Given the description of an element on the screen output the (x, y) to click on. 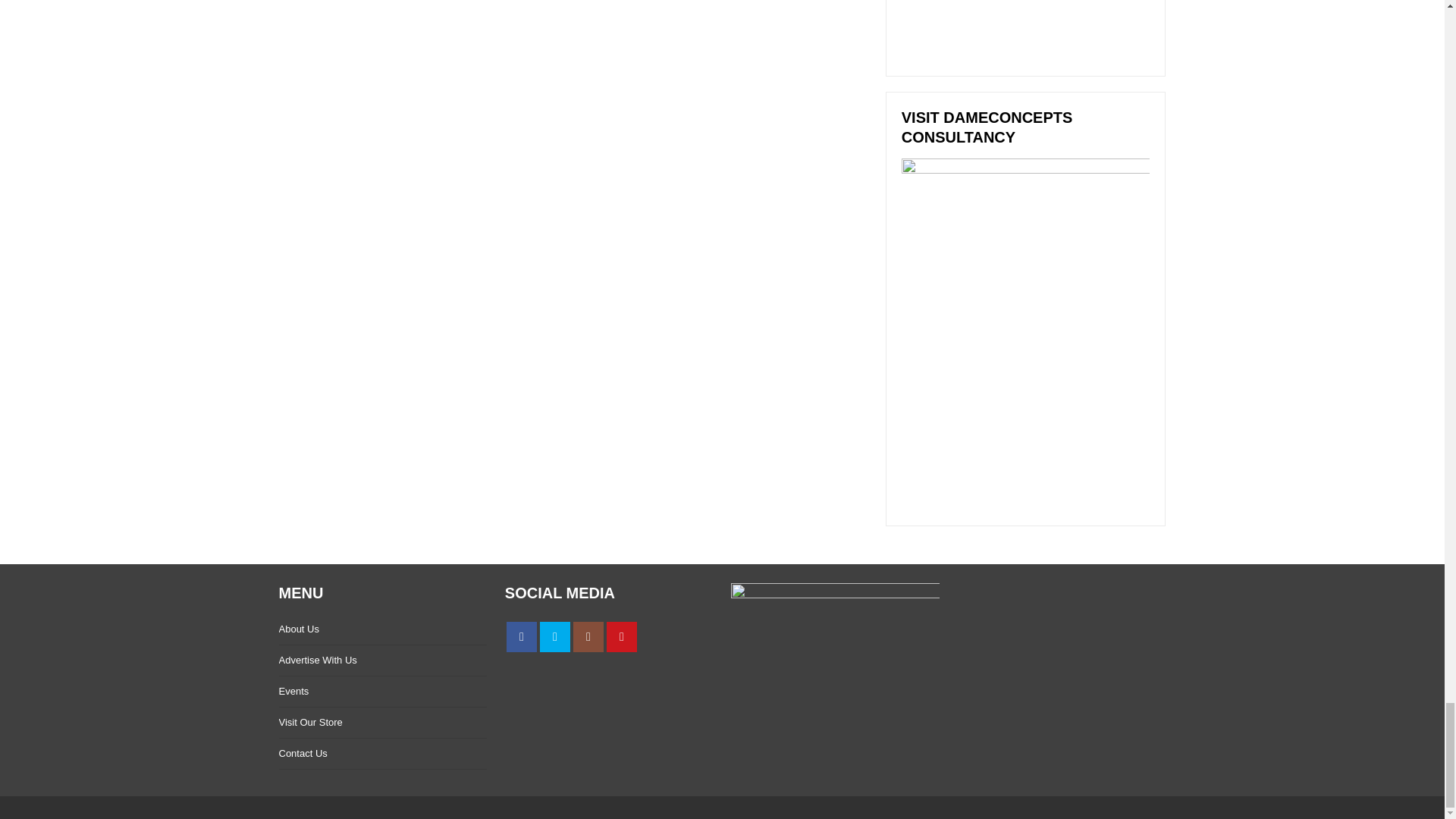
Contact Us (303, 753)
Events (293, 690)
Advertise With Us (317, 659)
About Us (298, 628)
Visit Our Store (310, 722)
